Given the description of an element on the screen output the (x, y) to click on. 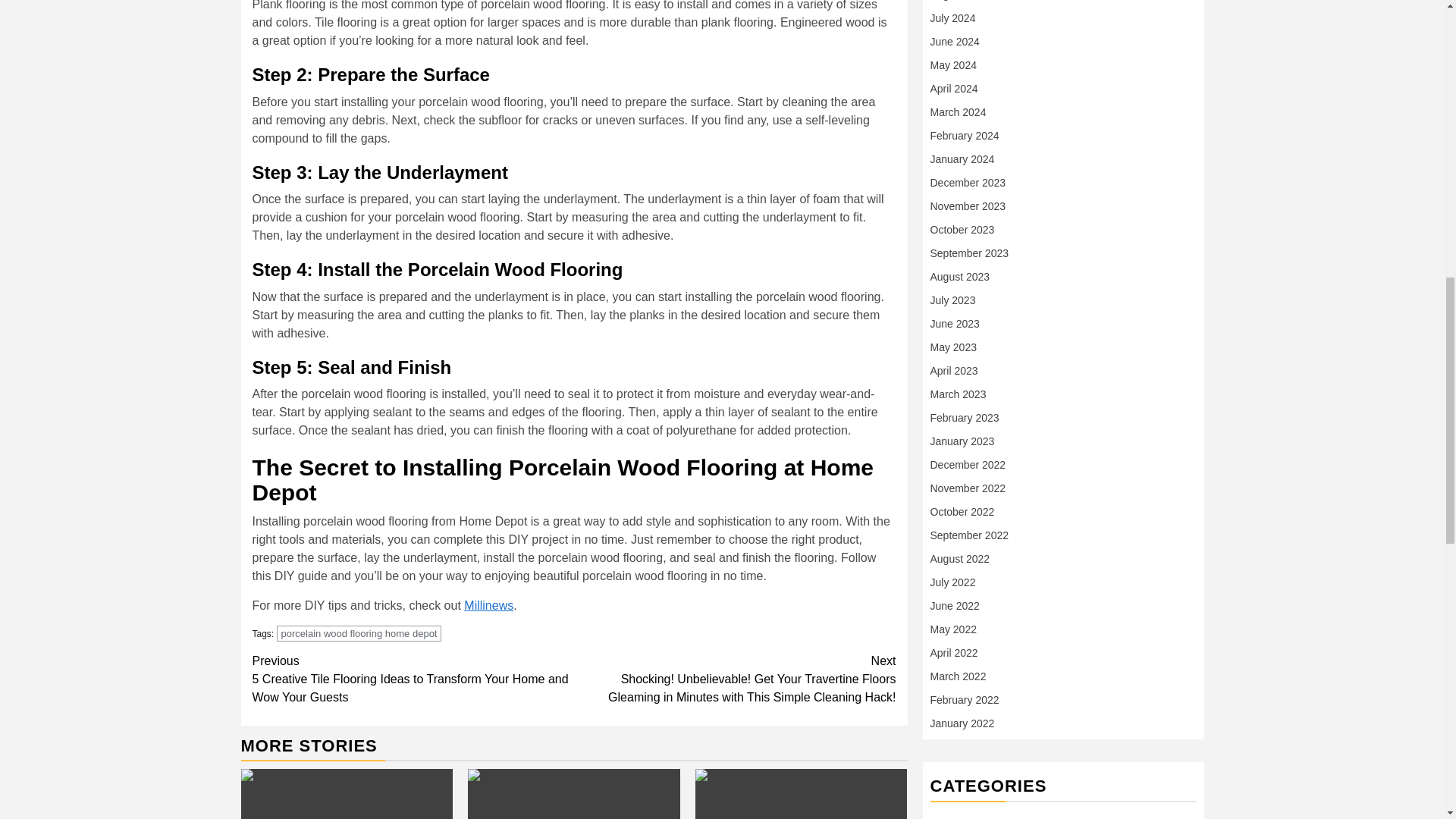
porcelain wood flooring home depot (359, 633)
Millinews (488, 604)
